Given the description of an element on the screen output the (x, y) to click on. 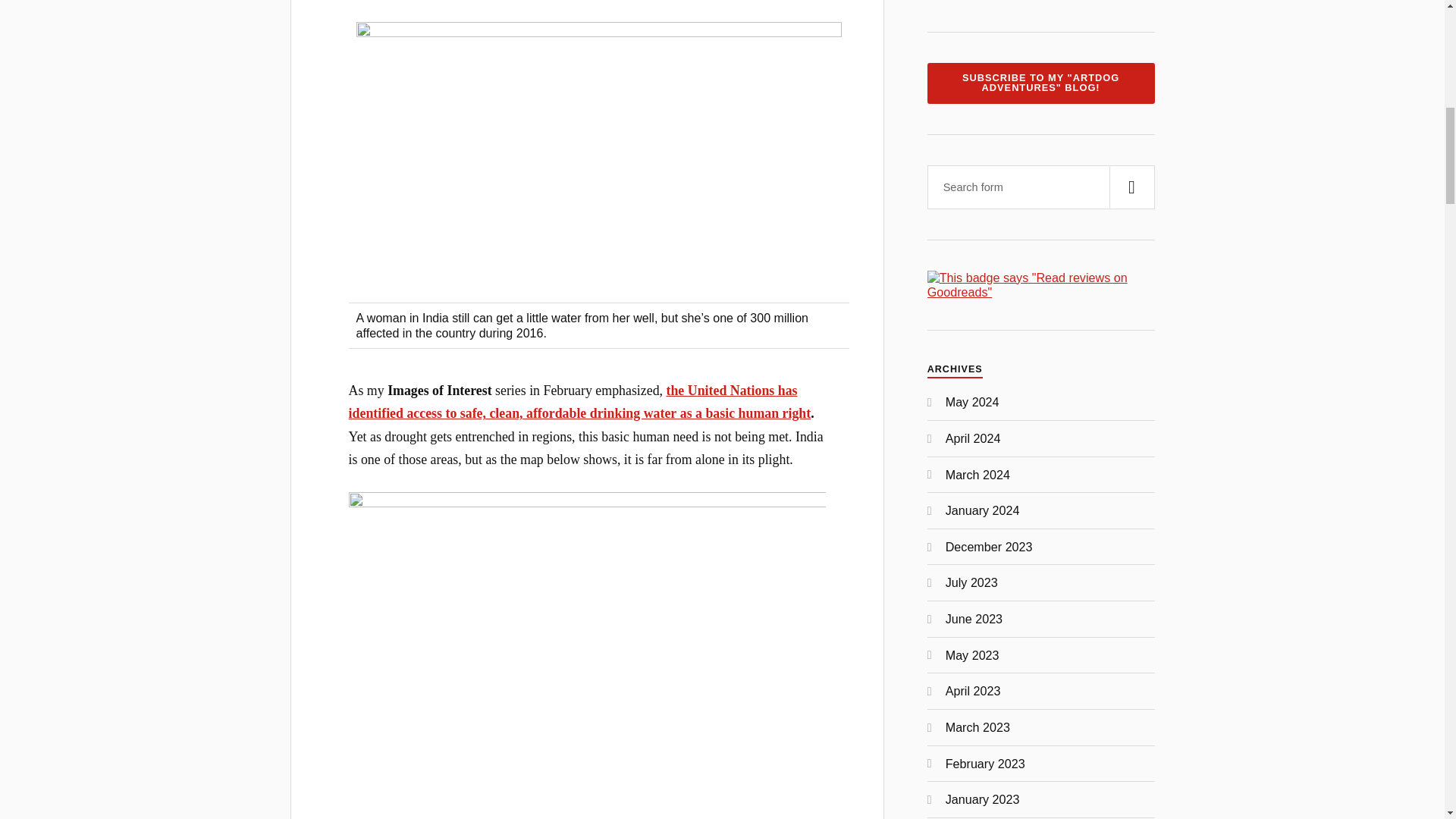
SUBSCRIBE TO MY "ARTDOG ADVENTURES" BLOG! (1040, 83)
as a basic human right (744, 412)
